Given the description of an element on the screen output the (x, y) to click on. 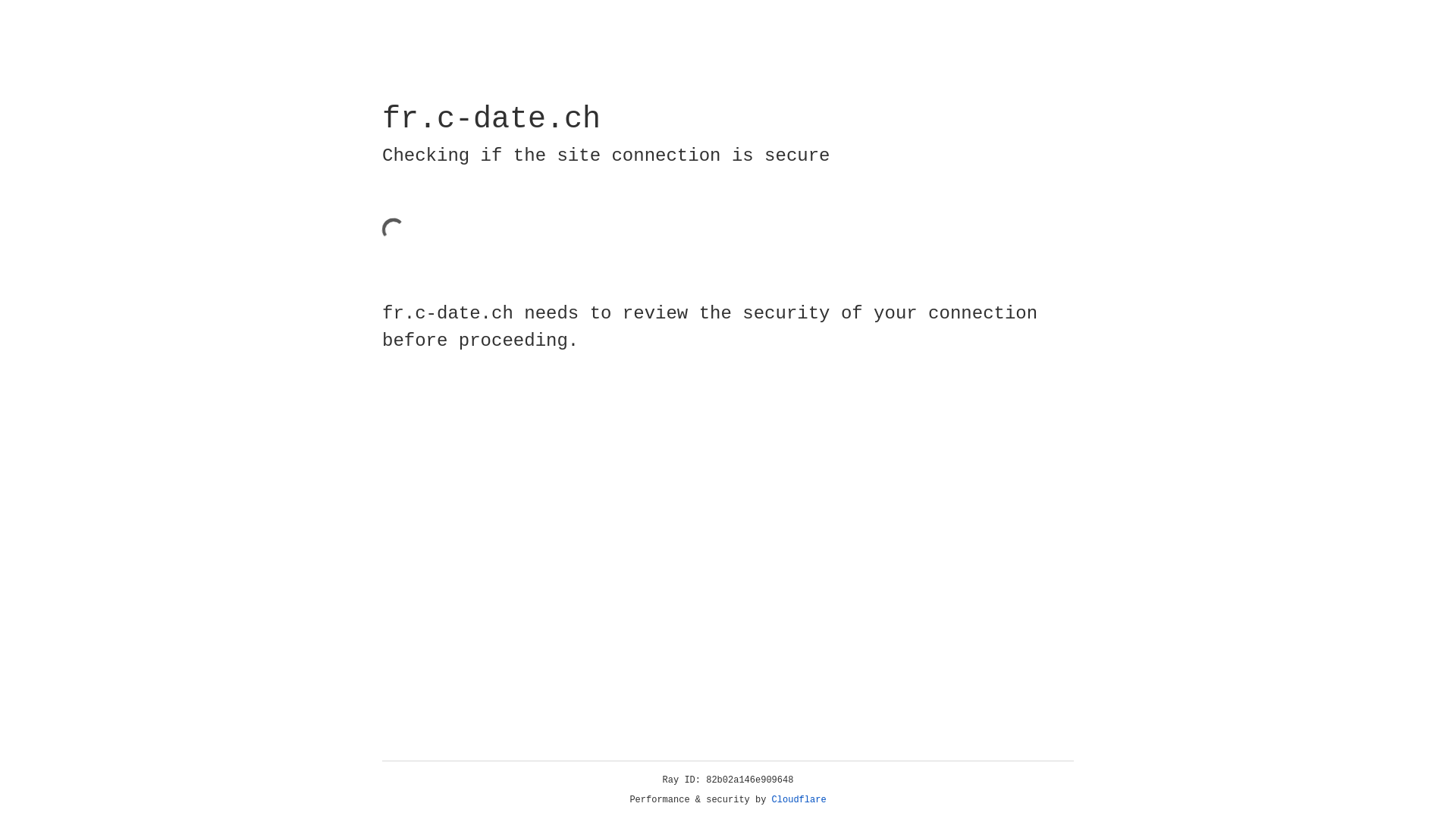
Cloudflare Element type: text (798, 799)
